Given the description of an element on the screen output the (x, y) to click on. 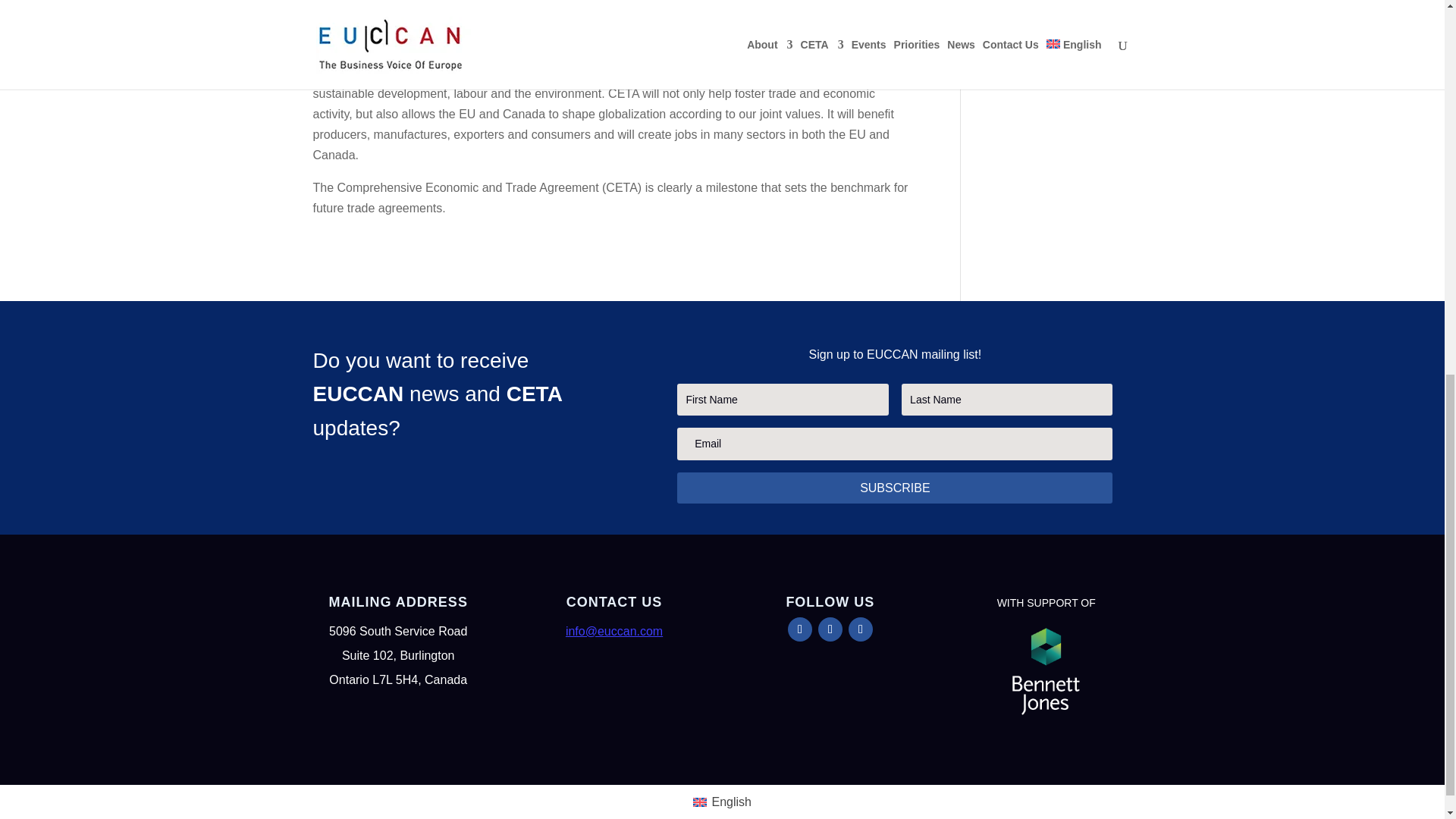
Follow on Facebook (799, 629)
Follow on X (830, 629)
Follow on LinkedIn (860, 629)
